Given the description of an element on the screen output the (x, y) to click on. 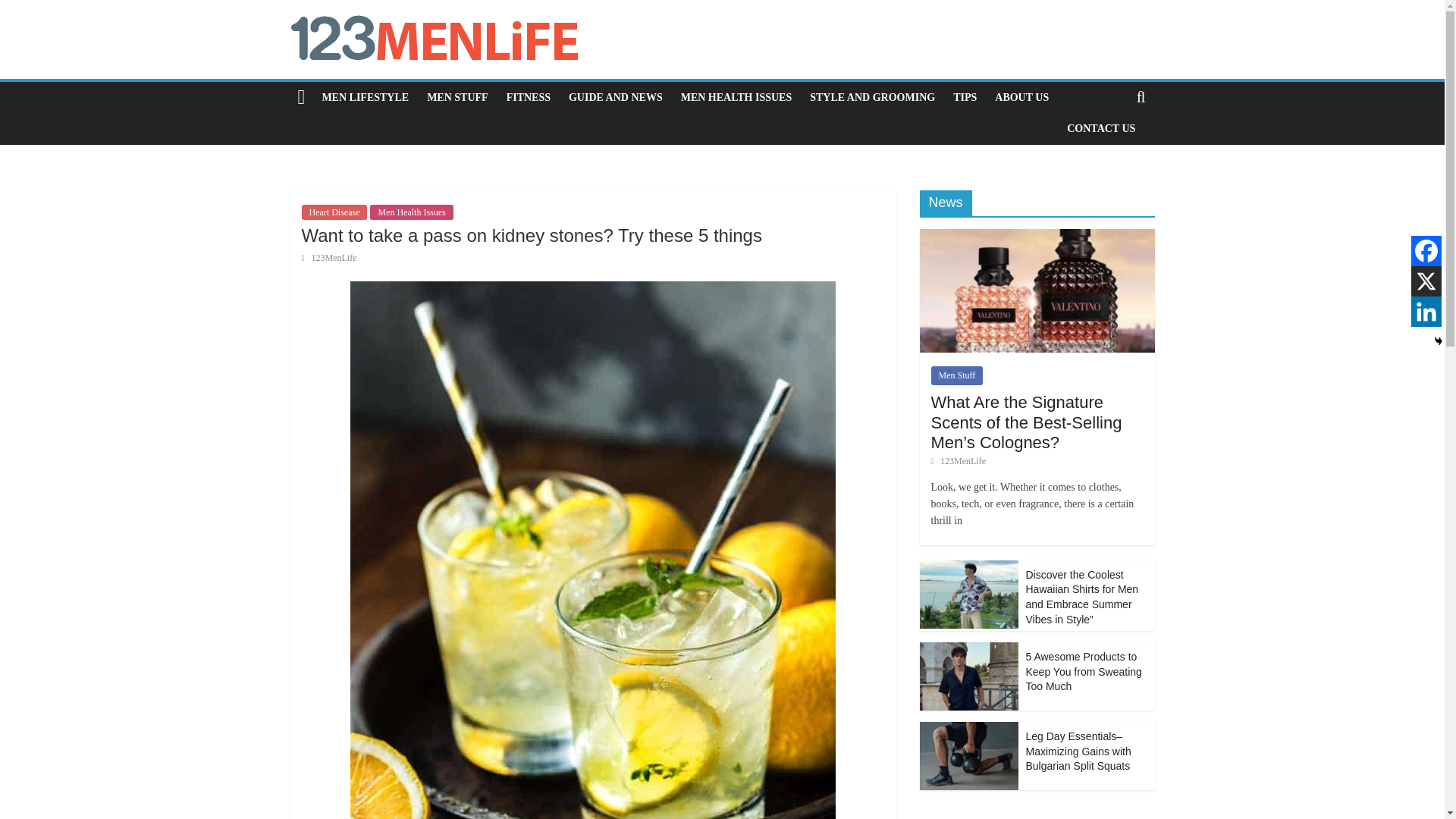
TIPS (964, 97)
MEN LIFESTYLE (365, 97)
CONTACT US (1101, 128)
Linkedin (1425, 311)
123MenLife (333, 257)
MEN HEALTH ISSUES (736, 97)
MEN STUFF (457, 97)
X (1425, 281)
123MenLife (333, 257)
Men Health Issues (410, 212)
